Given the description of an element on the screen output the (x, y) to click on. 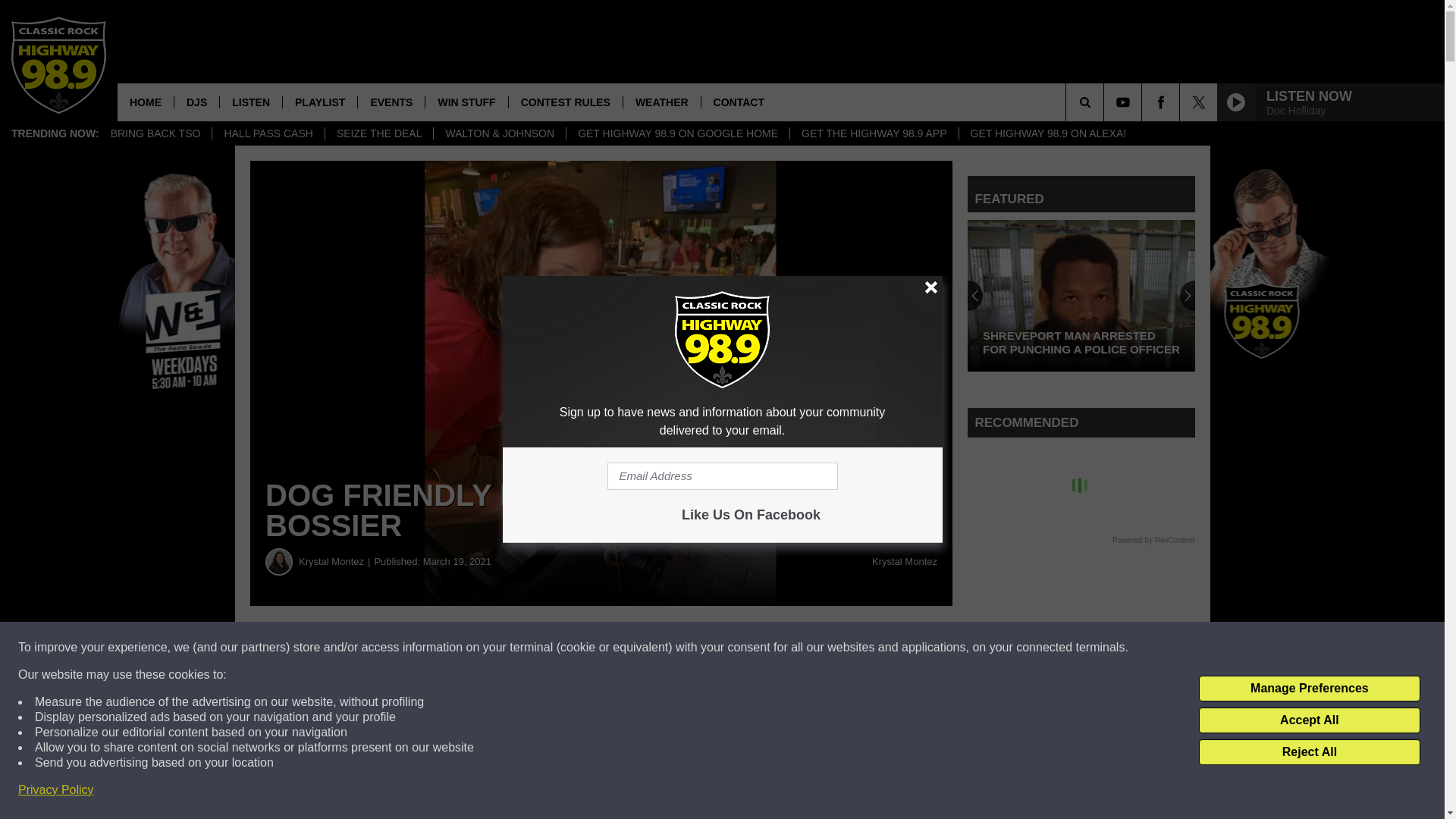
Email Address (722, 475)
SEARCH (1106, 102)
Privacy Policy (55, 789)
EVENTS (390, 102)
Manage Preferences (1309, 688)
WIN STUFF (465, 102)
Accept All (1309, 720)
GET THE HIGHWAY 98.9 APP (873, 133)
SEARCH (1106, 102)
GET HIGHWAY 98.9 ON ALEXA! (1048, 133)
CONTEST RULES (565, 102)
GET HIGHWAY 98.9 ON GOOGLE HOME (677, 133)
BRING BACK TSO (155, 133)
Reject All (1309, 751)
Share on Twitter (741, 647)
